Given the description of an element on the screen output the (x, y) to click on. 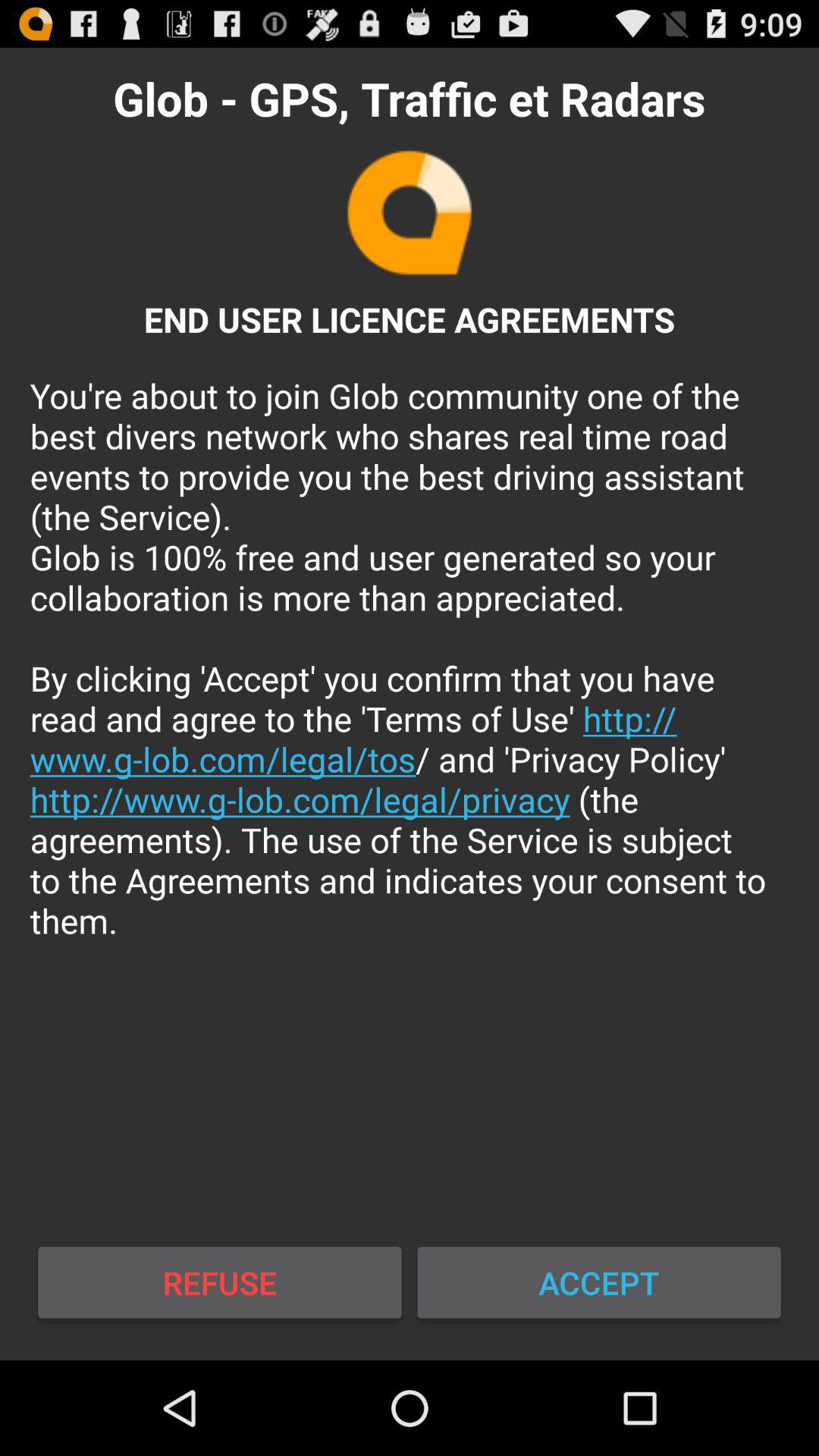
turn on the icon next to the refuse (598, 1282)
